Given the description of an element on the screen output the (x, y) to click on. 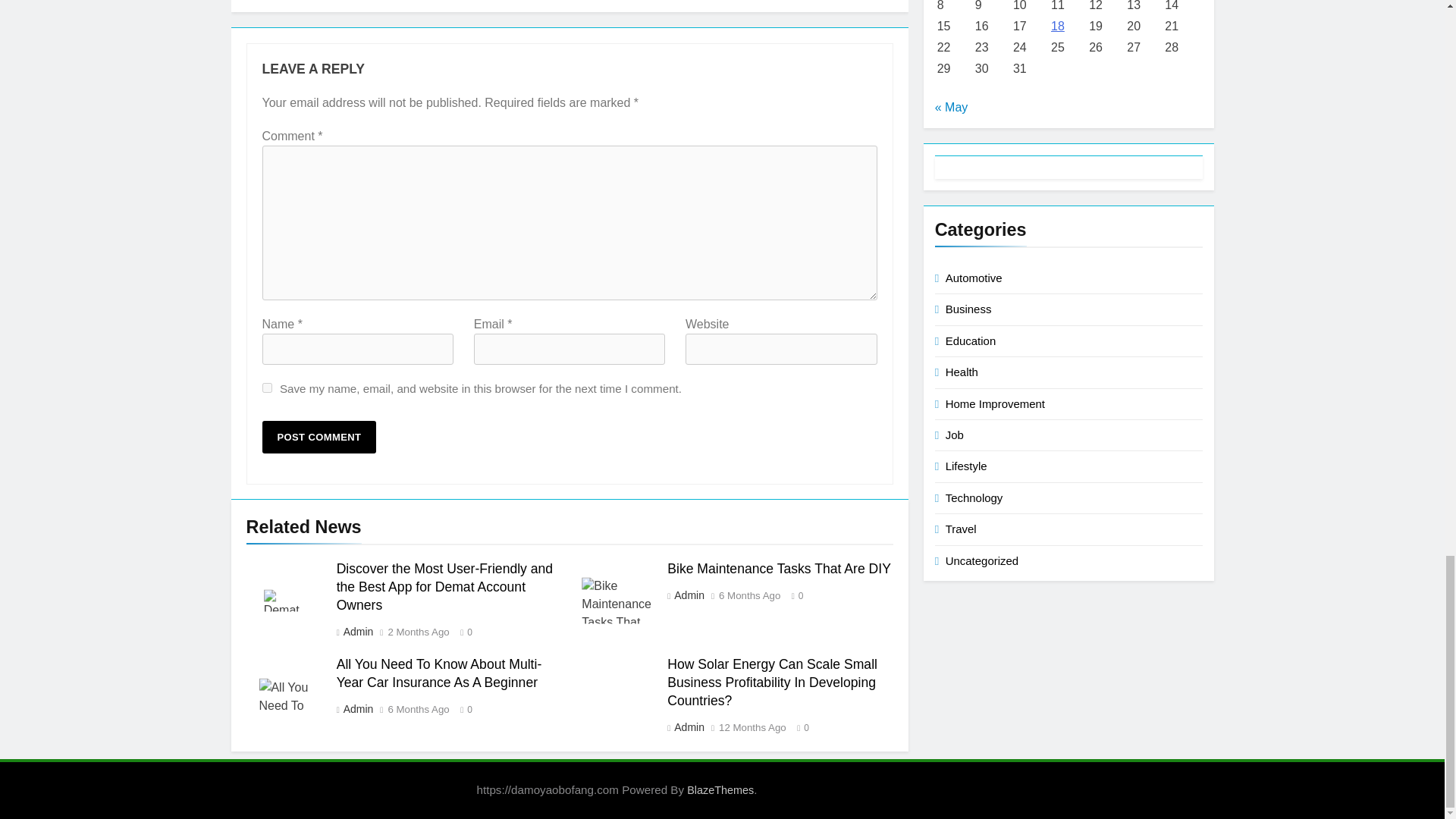
yes (267, 388)
Post Comment (319, 436)
